Given the description of an element on the screen output the (x, y) to click on. 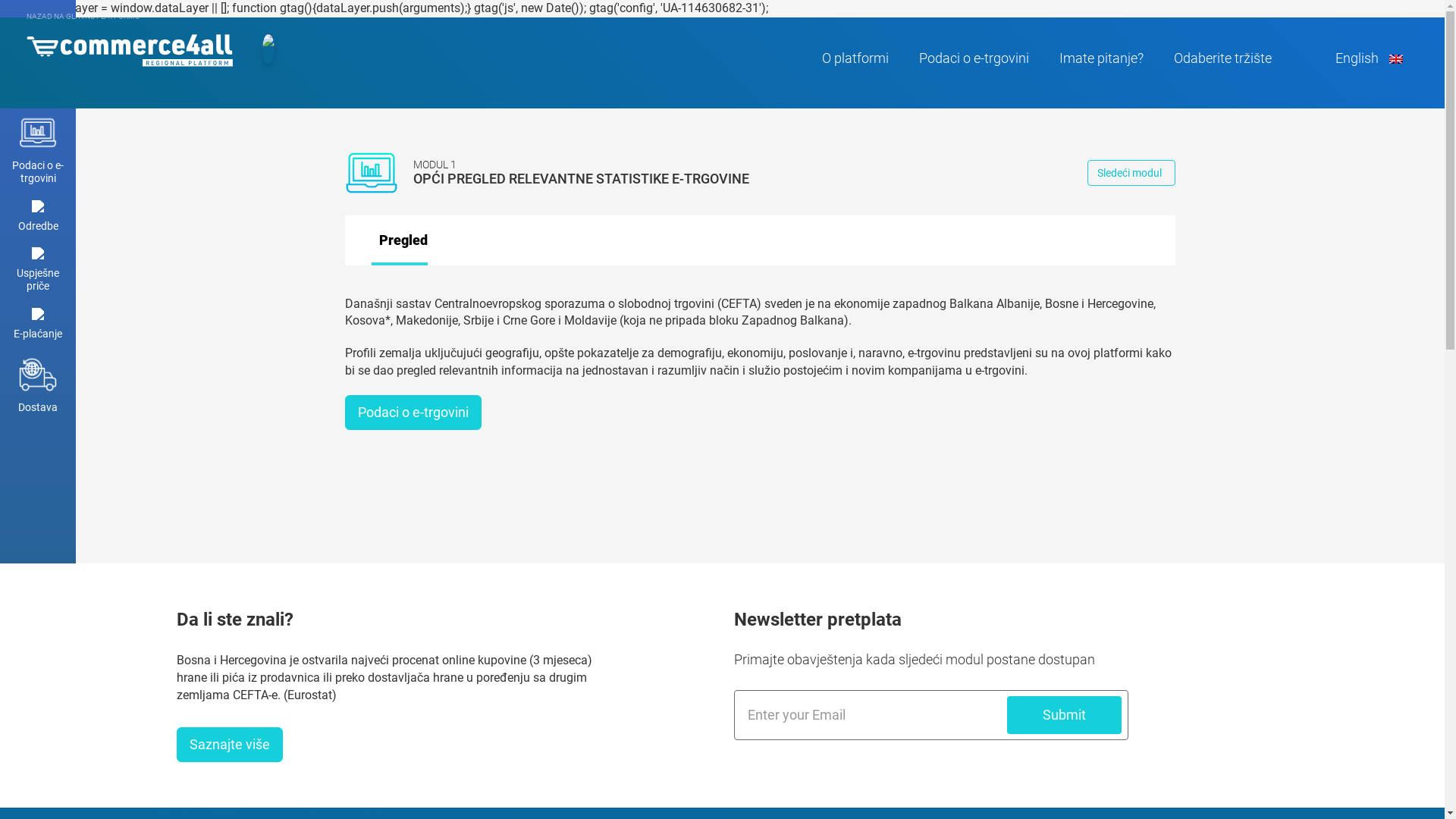
NAZAD NA GLAVNU PLATFORMU Element type: text (82, 16)
Imate pitanje? Element type: text (1101, 58)
Dostava Element type: text (37, 384)
Podaci o e-trgovini Element type: text (973, 58)
Podaci o e-trgovini Element type: text (413, 412)
Podaci o e-trgovini Element type: text (37, 149)
Bosnia and Herzegovina Element type: hover (129, 46)
O platformi Element type: text (854, 58)
Submit Element type: text (1064, 715)
Odredbe Element type: text (37, 216)
Pregled Element type: text (399, 240)
 English  Element type: text (1367, 58)
